Given the description of an element on the screen output the (x, y) to click on. 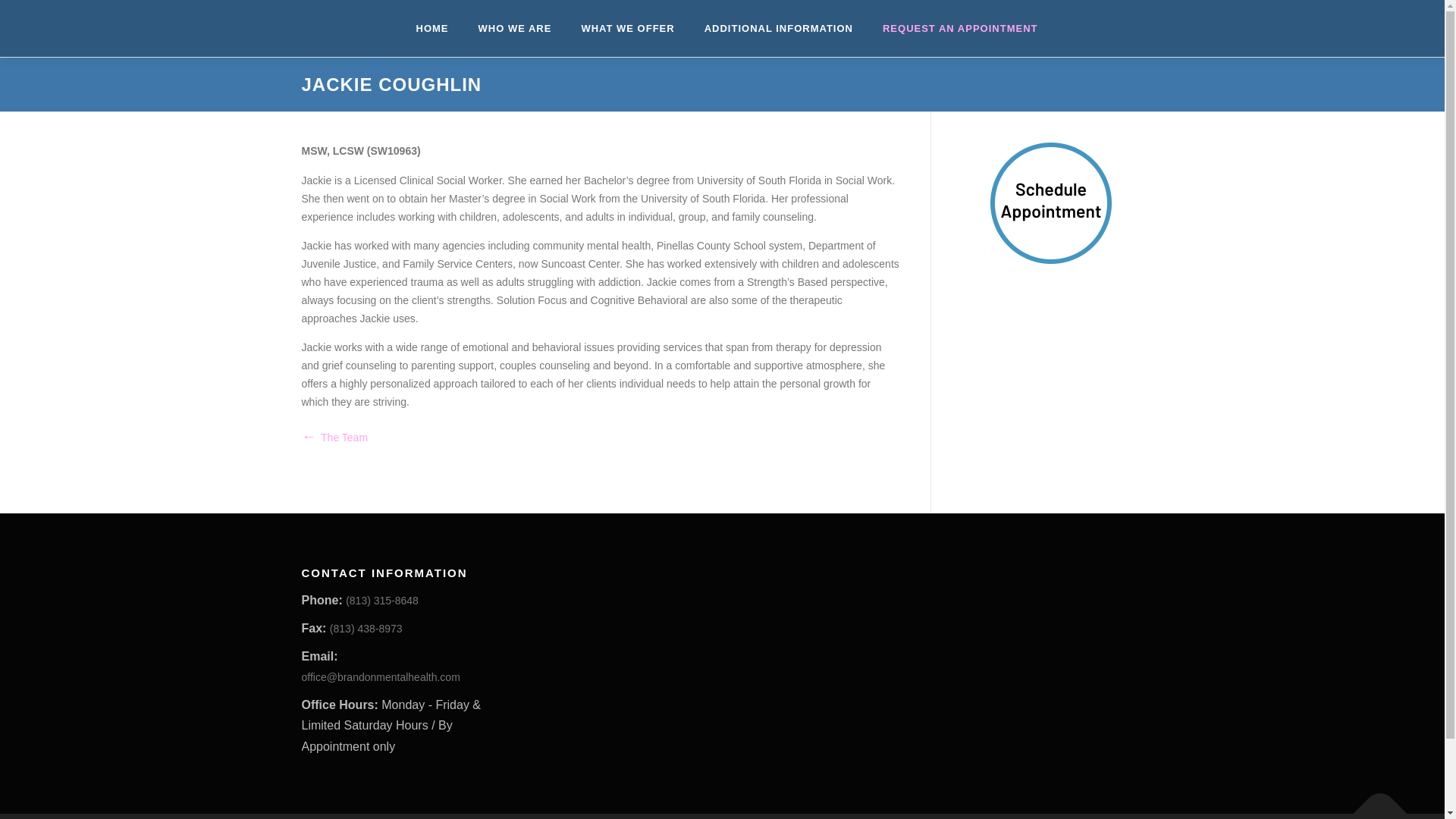
Back to Therapists (334, 437)
ADDITIONAL INFORMATION (778, 28)
WHO WE ARE (514, 28)
WHAT WE OFFER (627, 28)
REQUEST AN APPOINTMENT (953, 28)
Back To Top (1372, 803)
HOME (432, 28)
